Given the description of an element on the screen output the (x, y) to click on. 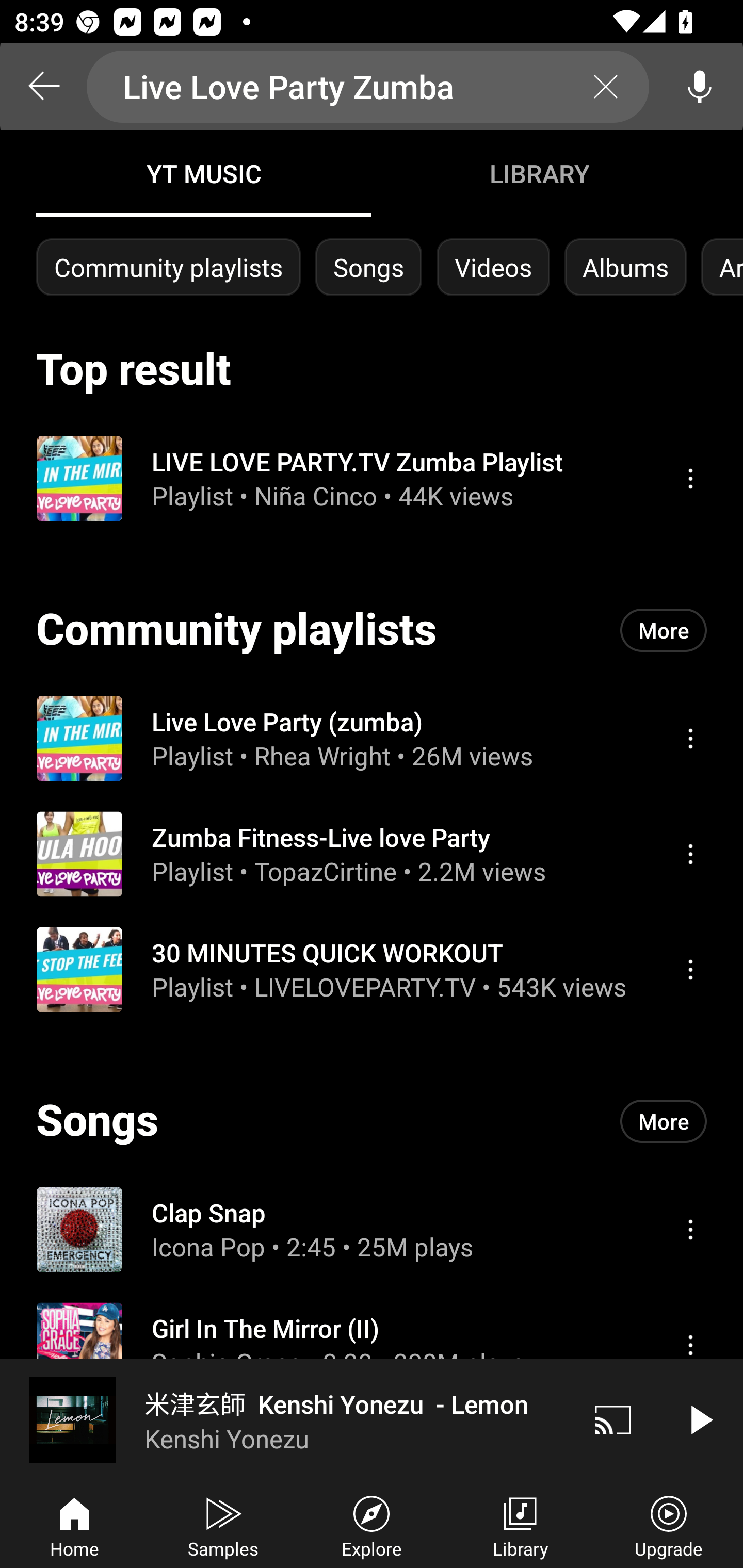
Search back (43, 86)
Live Love Party Zumba (367, 86)
Clear search (605, 86)
Voice search (699, 86)
Library LIBRARY (538, 173)
Menu (690, 478)
Community playlists More More (371, 630)
More (663, 630)
Menu (690, 738)
Menu (690, 854)
Menu (690, 968)
Songs More More (371, 1120)
More (663, 1121)
Menu (690, 1229)
Menu (690, 1345)
米津玄師  Kenshi Yonezu  - Lemon Kenshi Yonezu (284, 1419)
Cast. Disconnected (612, 1419)
Play video (699, 1419)
Home (74, 1524)
Samples (222, 1524)
Explore (371, 1524)
Library (519, 1524)
Upgrade (668, 1524)
